Given the description of an element on the screen output the (x, y) to click on. 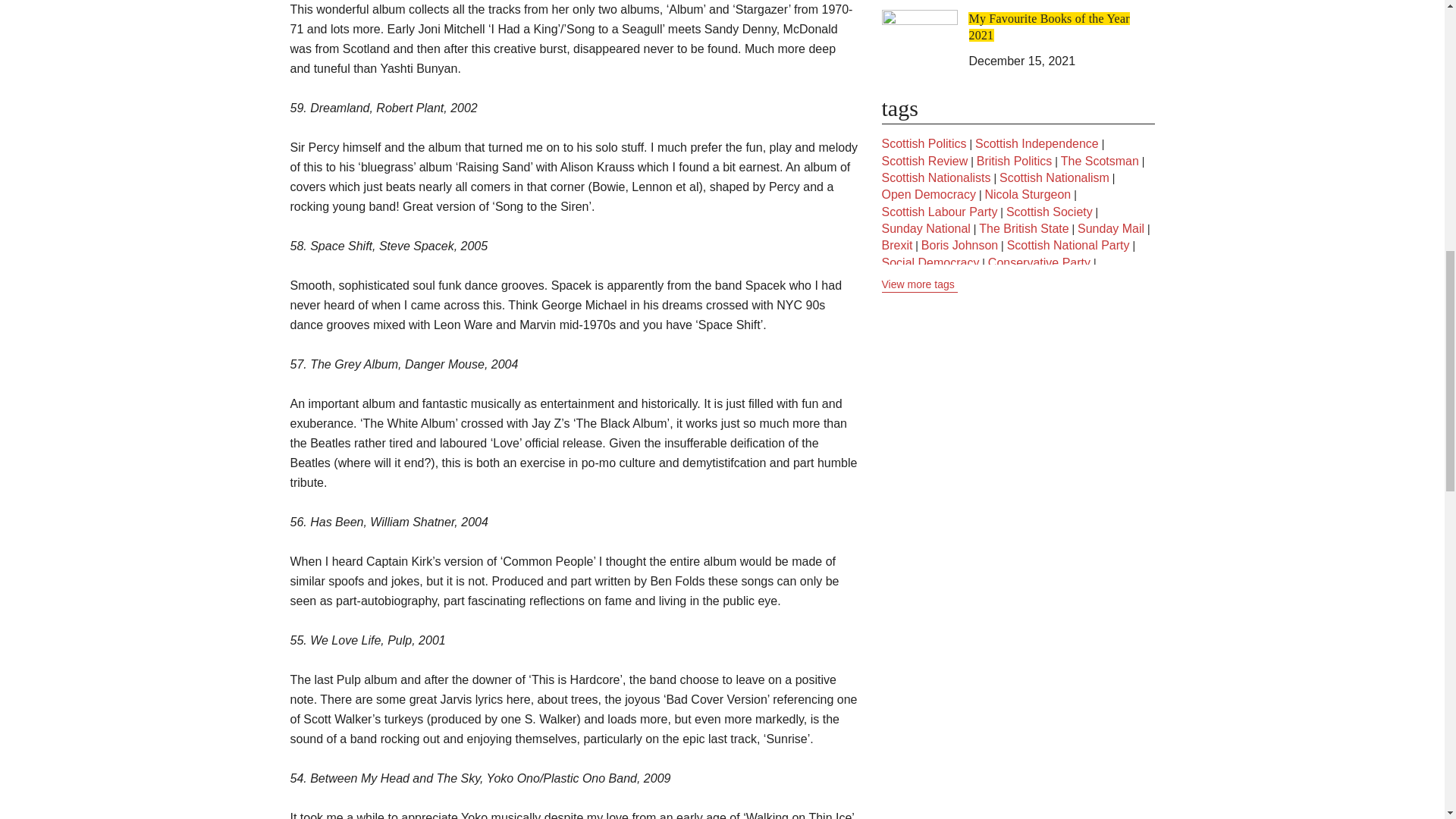
Scottish Review (924, 161)
Open Democracy (927, 194)
British Politics (1014, 161)
Scottish Nationalism (1053, 177)
Nicola Sturgeon (1027, 194)
The Scotsman (1099, 161)
Scottish Politics (923, 143)
My Favourite Books of the Year 2021 (1049, 27)
Scottish Nationalists (935, 177)
Scottish Independence (1037, 143)
